Given the description of an element on the screen output the (x, y) to click on. 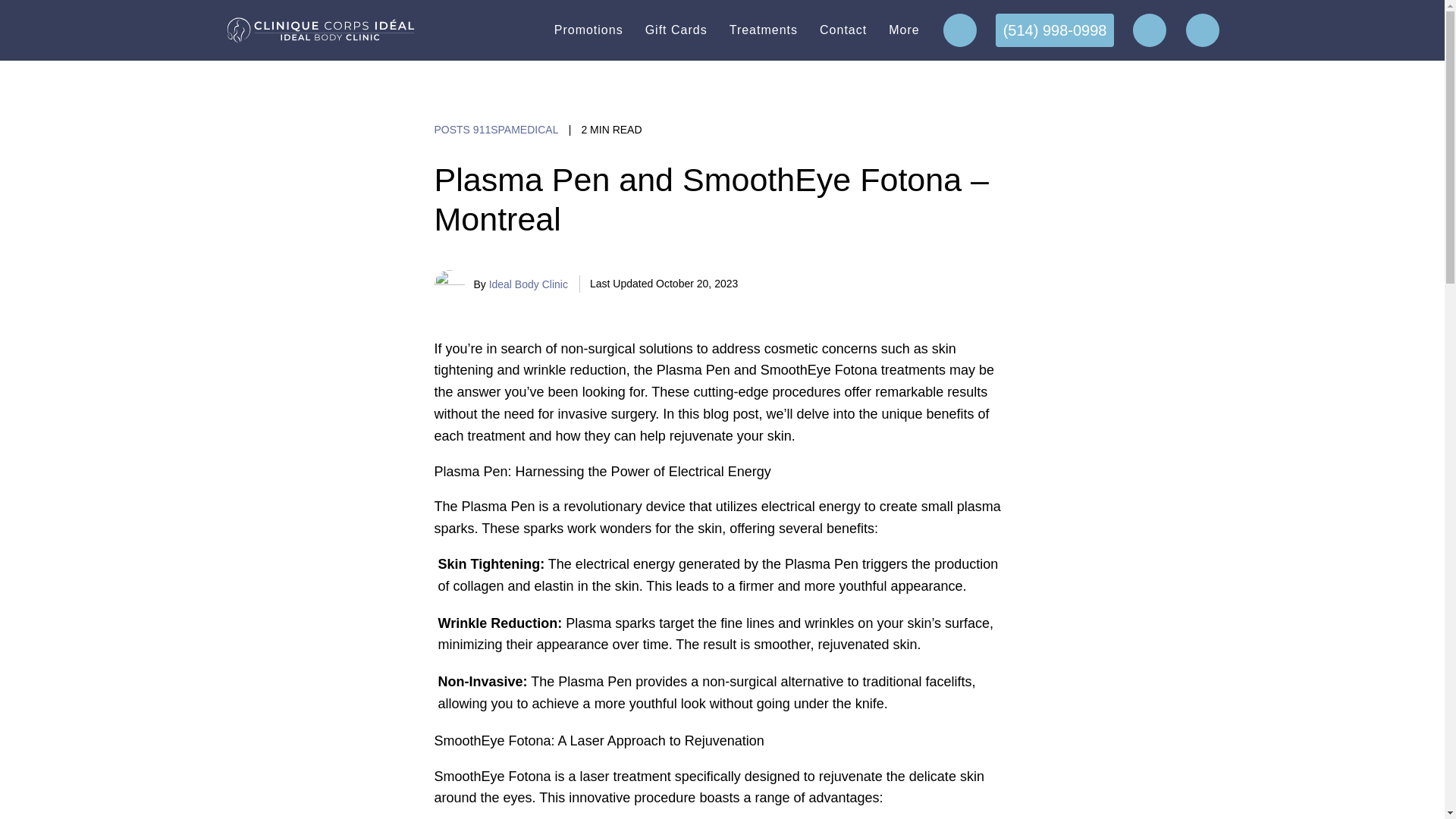
Treatments (763, 30)
Gift Cards (676, 30)
Promotions (588, 30)
